Given the description of an element on the screen output the (x, y) to click on. 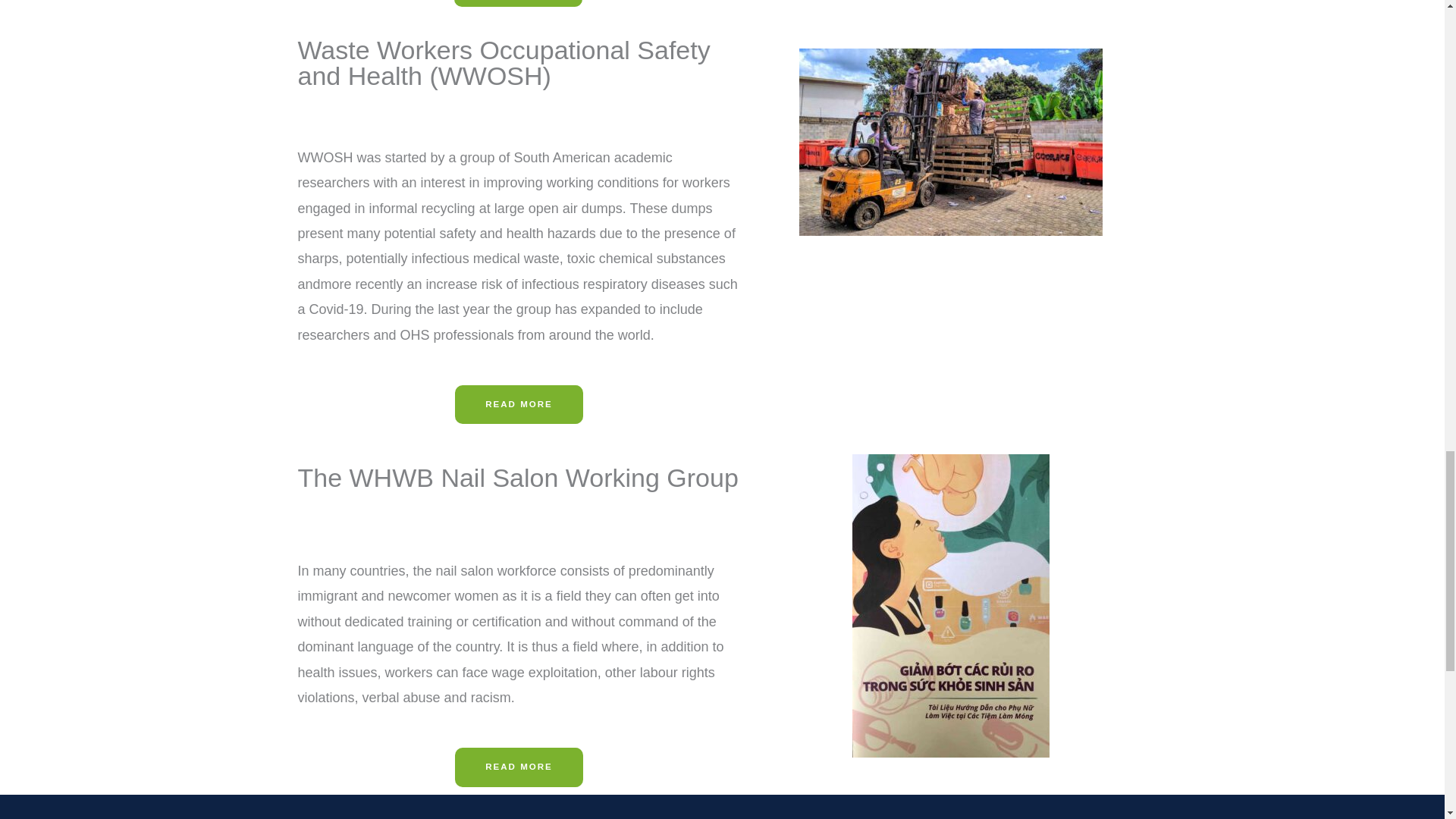
READ MORE (518, 404)
READ MORE (518, 767)
READ MORE (518, 3)
